Given the description of an element on the screen output the (x, y) to click on. 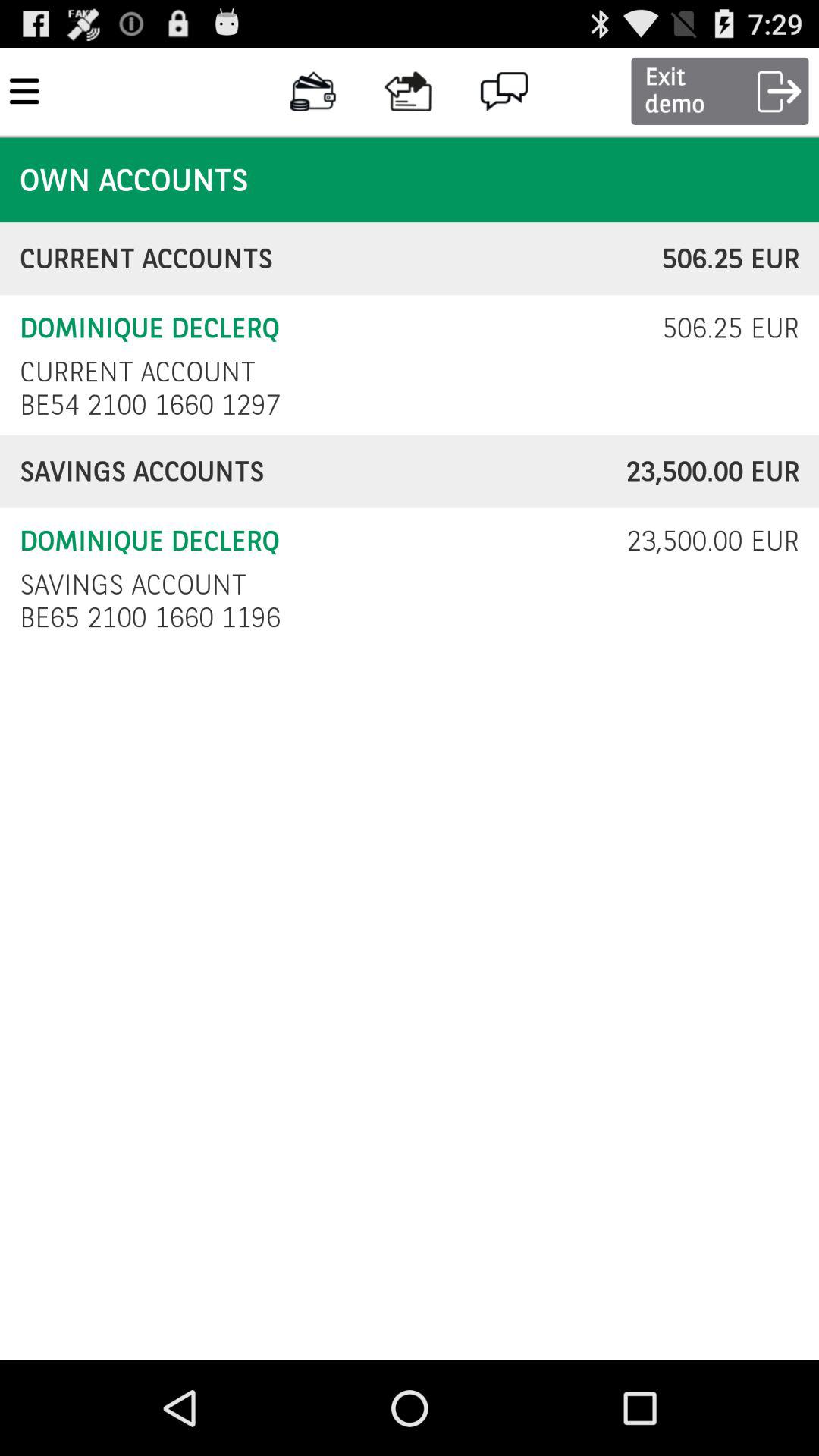
open the be54 2100 1660 (153, 404)
